Given the description of an element on the screen output the (x, y) to click on. 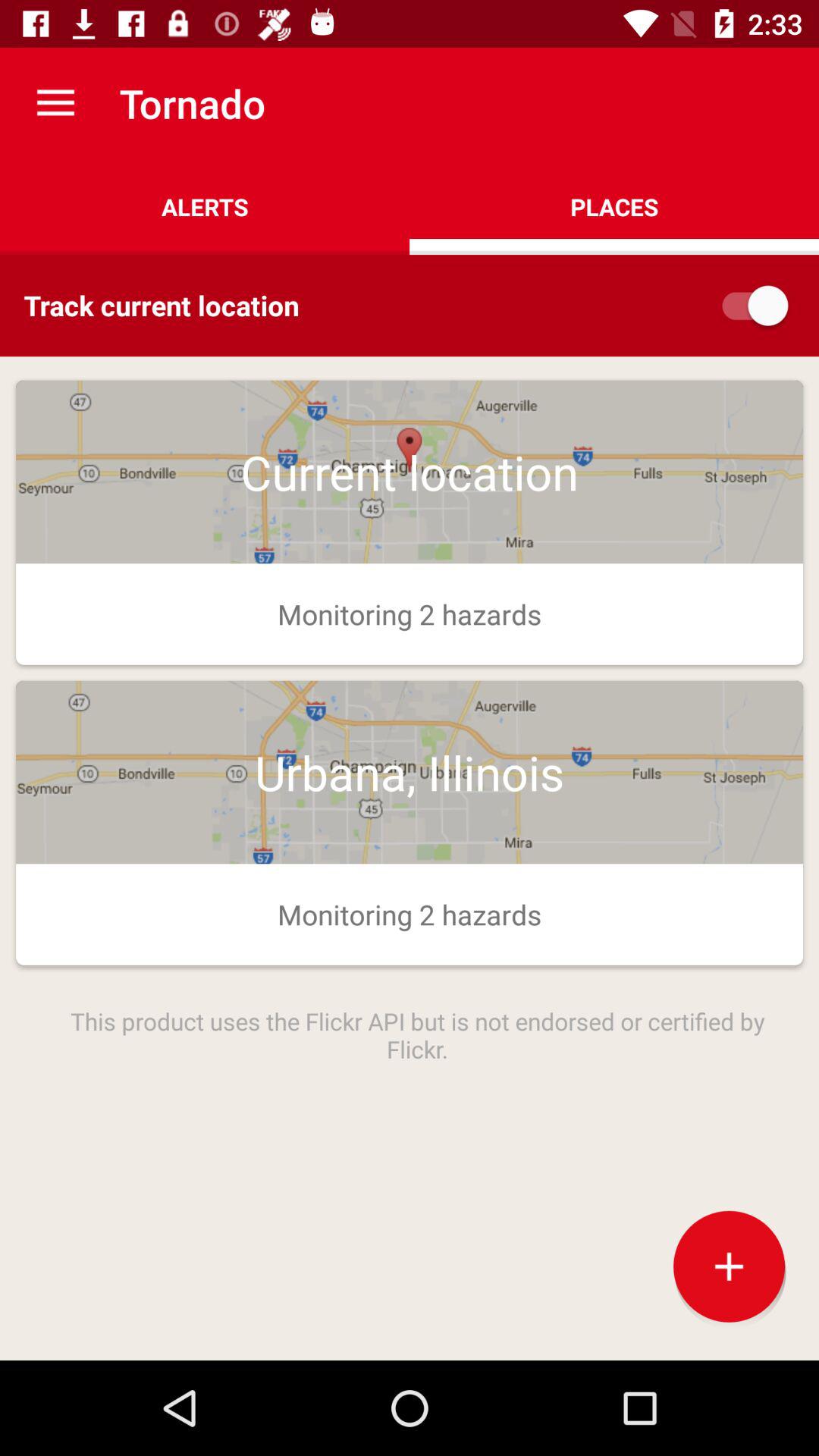
launch icon next to the tornado app (55, 103)
